Given the description of an element on the screen output the (x, y) to click on. 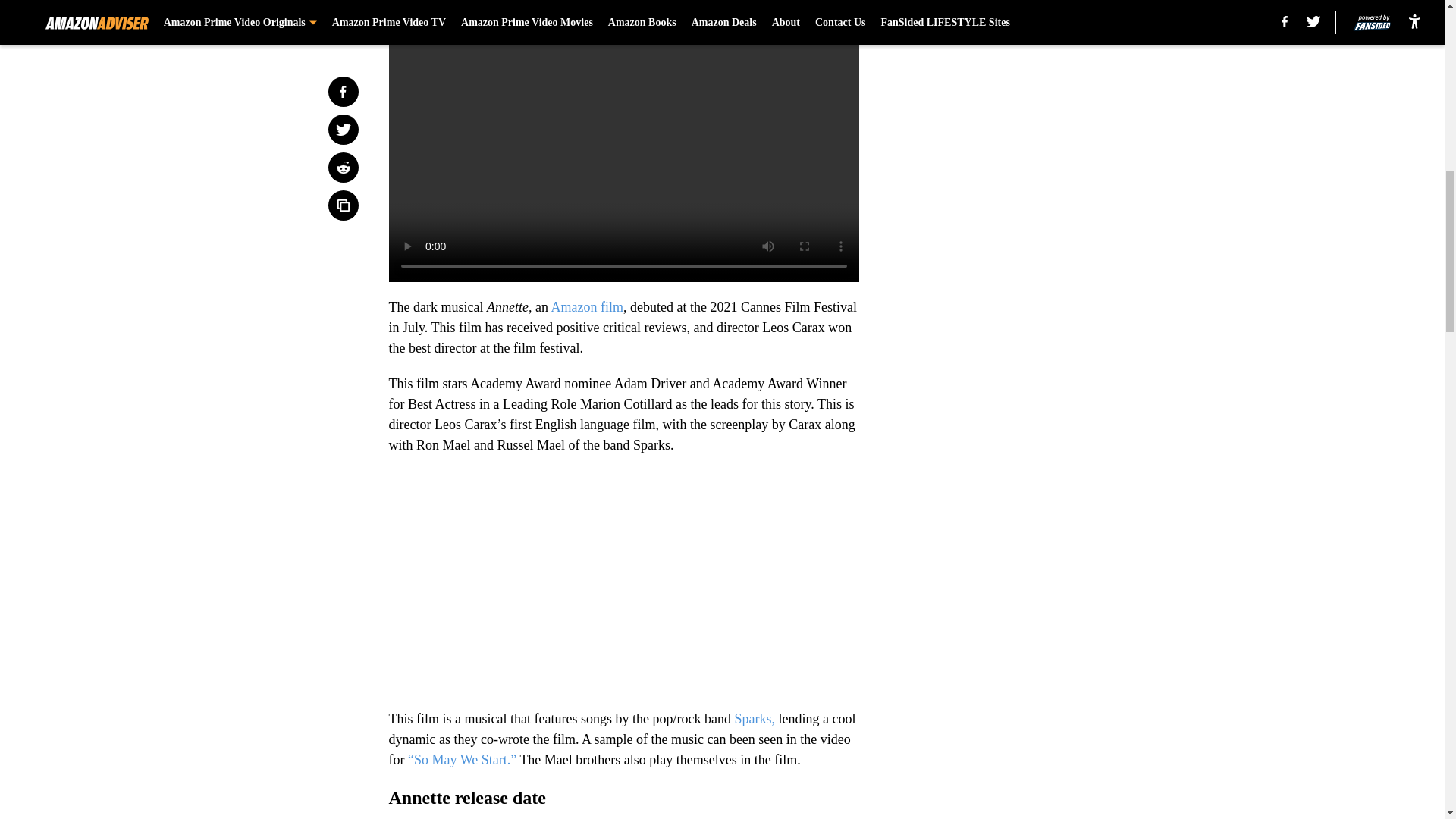
3rd party ad content (1047, 113)
Sparks, (753, 718)
Amazon film (586, 306)
3rd party ad content (1047, 332)
